Given the description of an element on the screen output the (x, y) to click on. 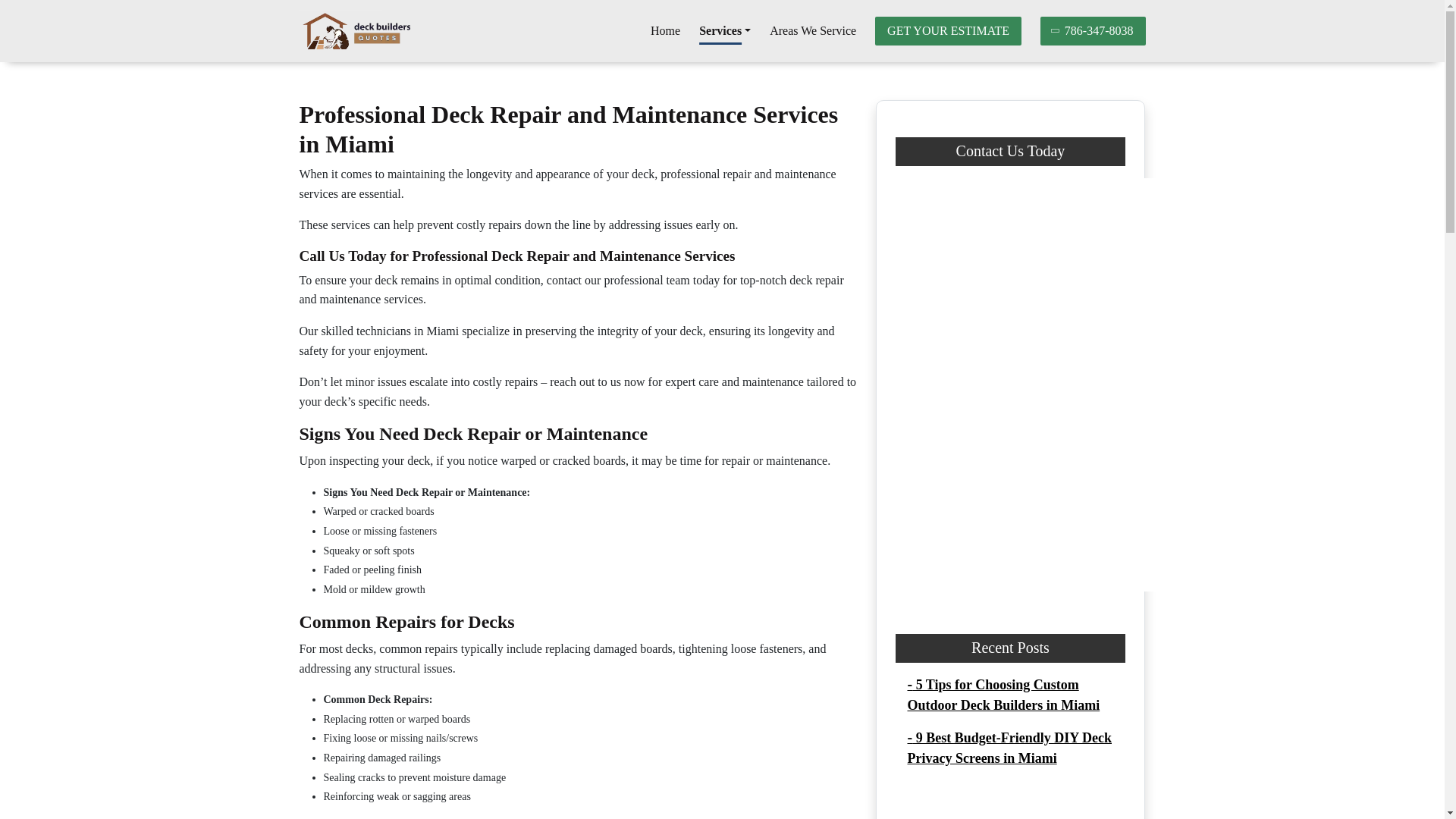
Services (724, 30)
GET YOUR ESTIMATE (948, 30)
- 9 Best Budget-Friendly DIY Deck Privacy Screens in Miami (1009, 747)
- 5 Tips for Choosing Custom Outdoor Deck Builders in Miami (1003, 694)
Home (664, 30)
Home (664, 30)
Services (724, 30)
Areas We Service (813, 30)
786-347-8038 (1093, 30)
Areas We Service (813, 30)
